Given the description of an element on the screen output the (x, y) to click on. 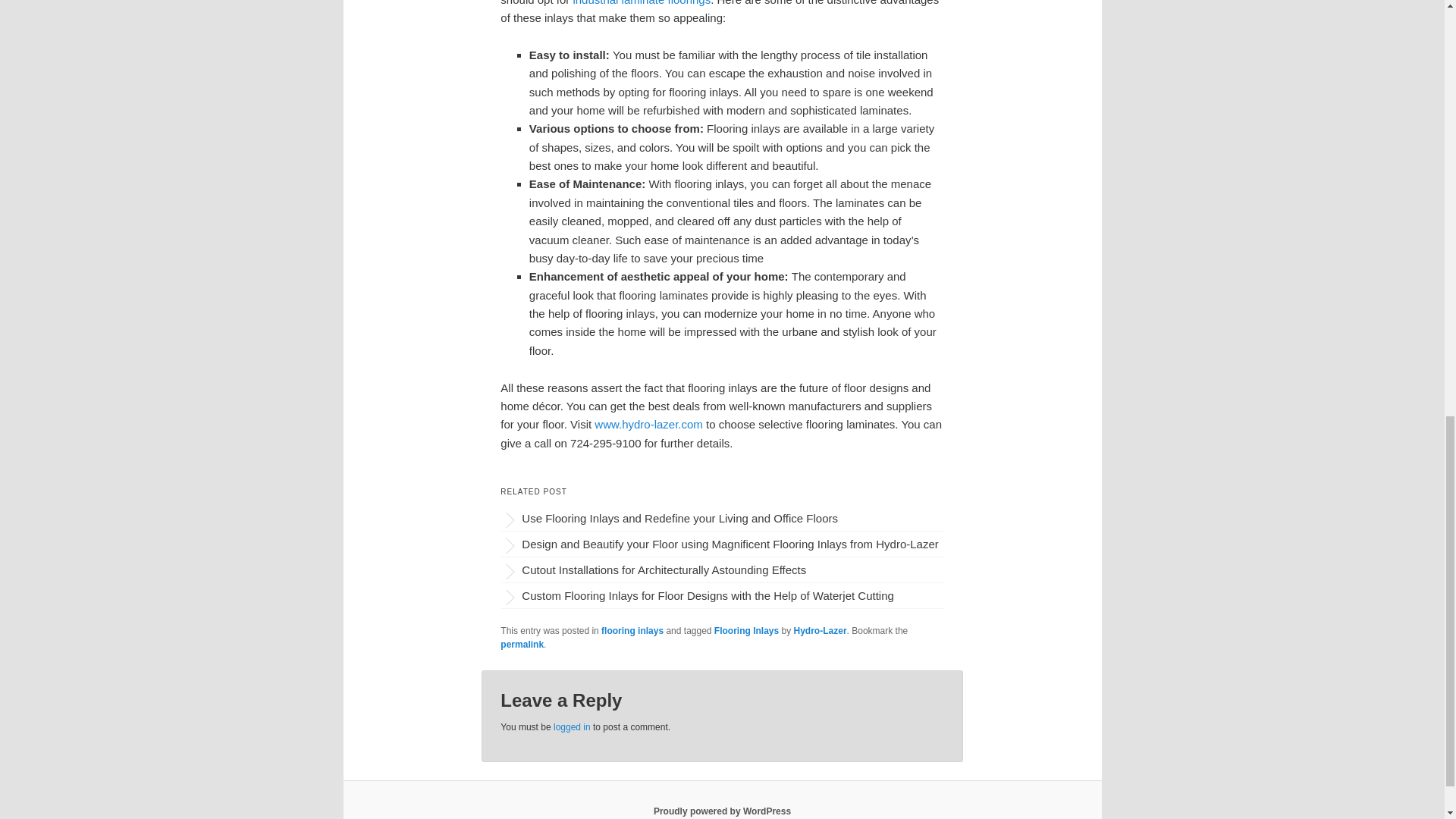
Flooring Inlays (746, 630)
flooring inlays (632, 630)
permalink (521, 644)
Laminate Flooring (641, 2)
industrial laminate floorings (641, 2)
Cutout Installations for Architecturally Astounding Effects (726, 569)
Hydro-Lazer (820, 630)
Semantic Personal Publishing Platform (721, 810)
